Given the description of an element on the screen output the (x, y) to click on. 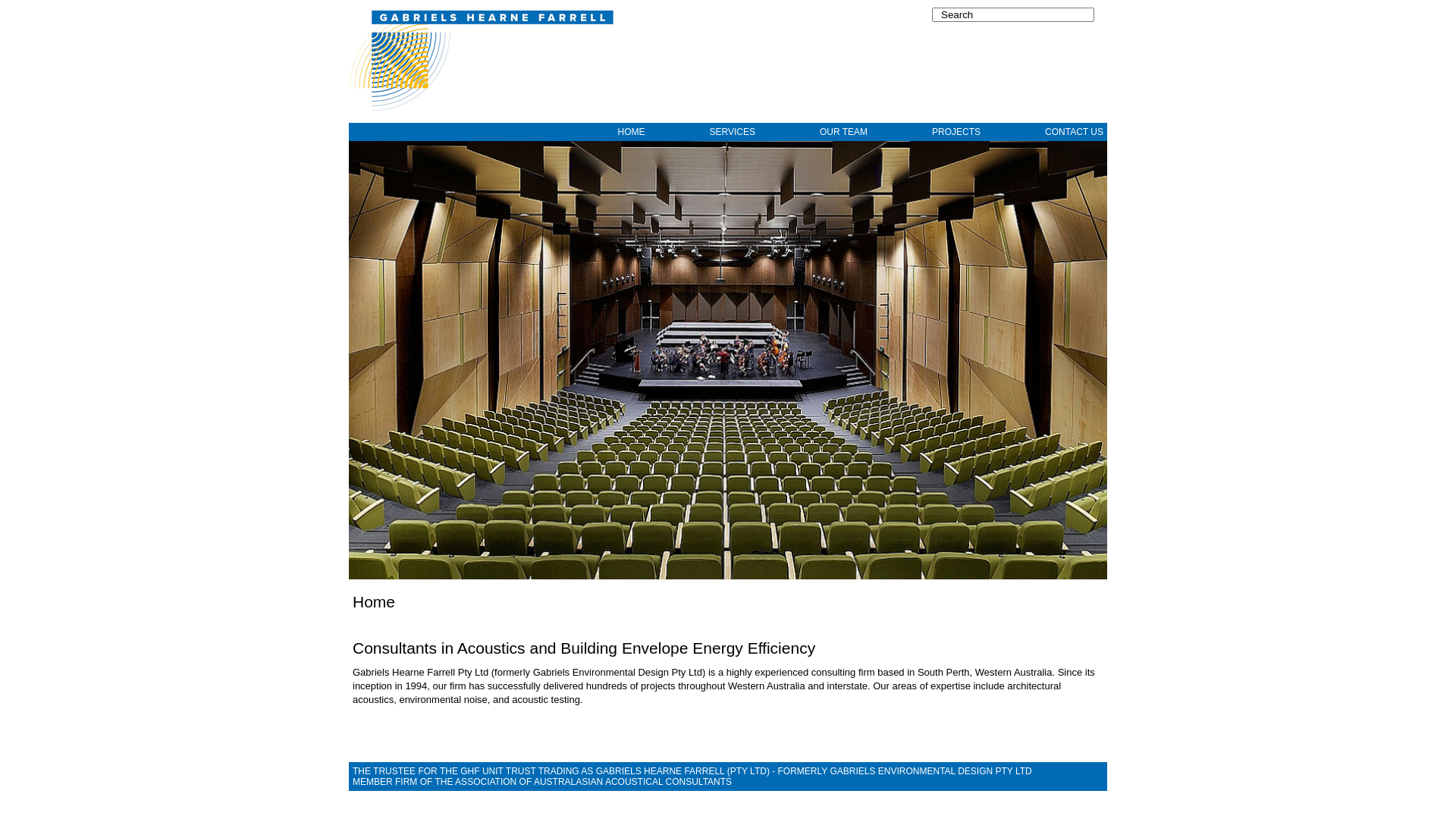
HOME Element type: text (602, 131)
Gabriels Hearne Farrell Element type: hover (481, 59)
SERVICES Element type: text (703, 131)
CONTACT US Element type: text (1045, 131)
PROJECTS Element type: text (927, 131)
OUR TEAM Element type: text (815, 131)
